Given the description of an element on the screen output the (x, y) to click on. 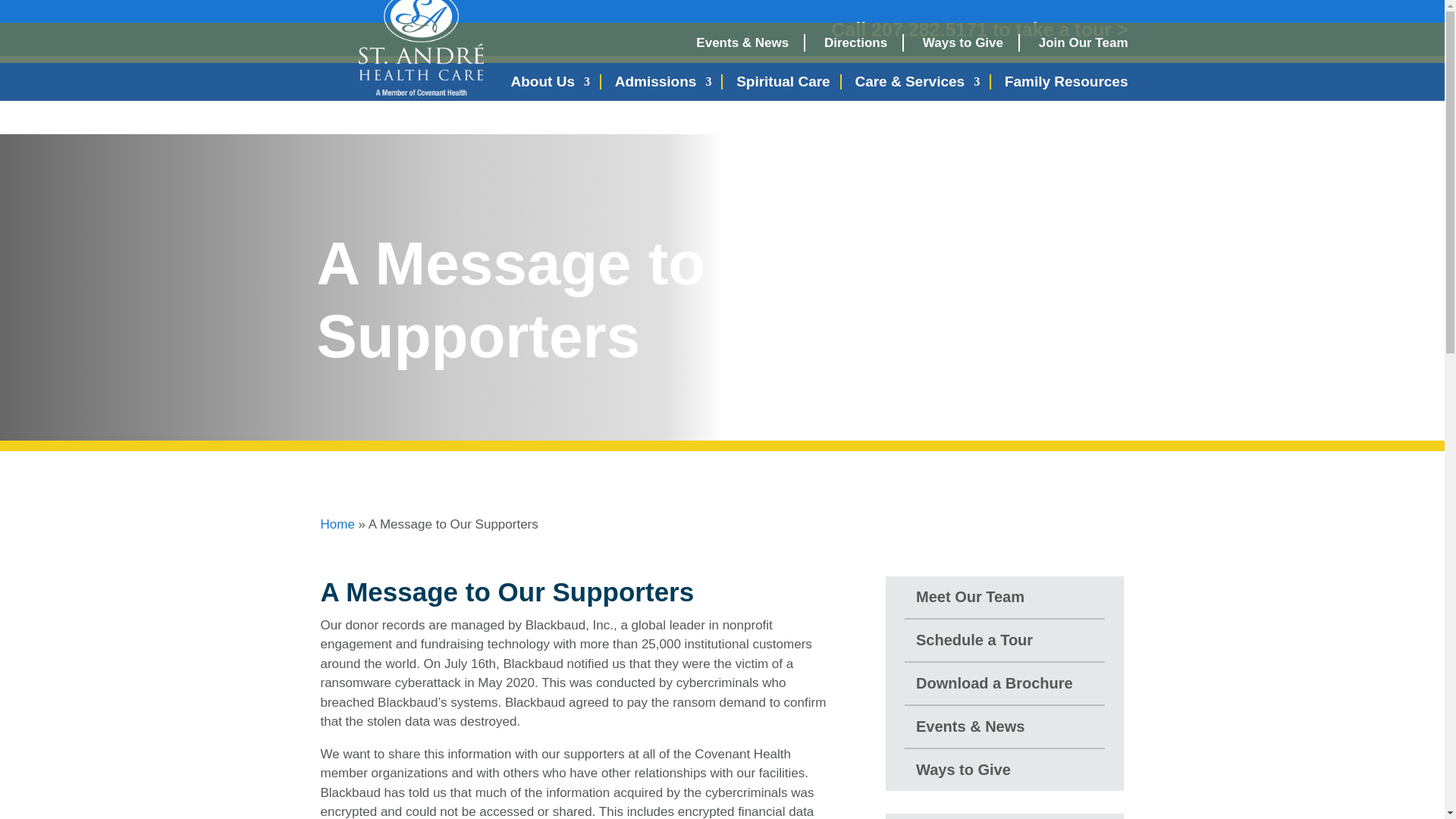
207.282.5171 (928, 29)
About Us (550, 81)
Ways to Give (963, 42)
Directions (855, 42)
Join Our Team (1083, 42)
